Given the description of an element on the screen output the (x, y) to click on. 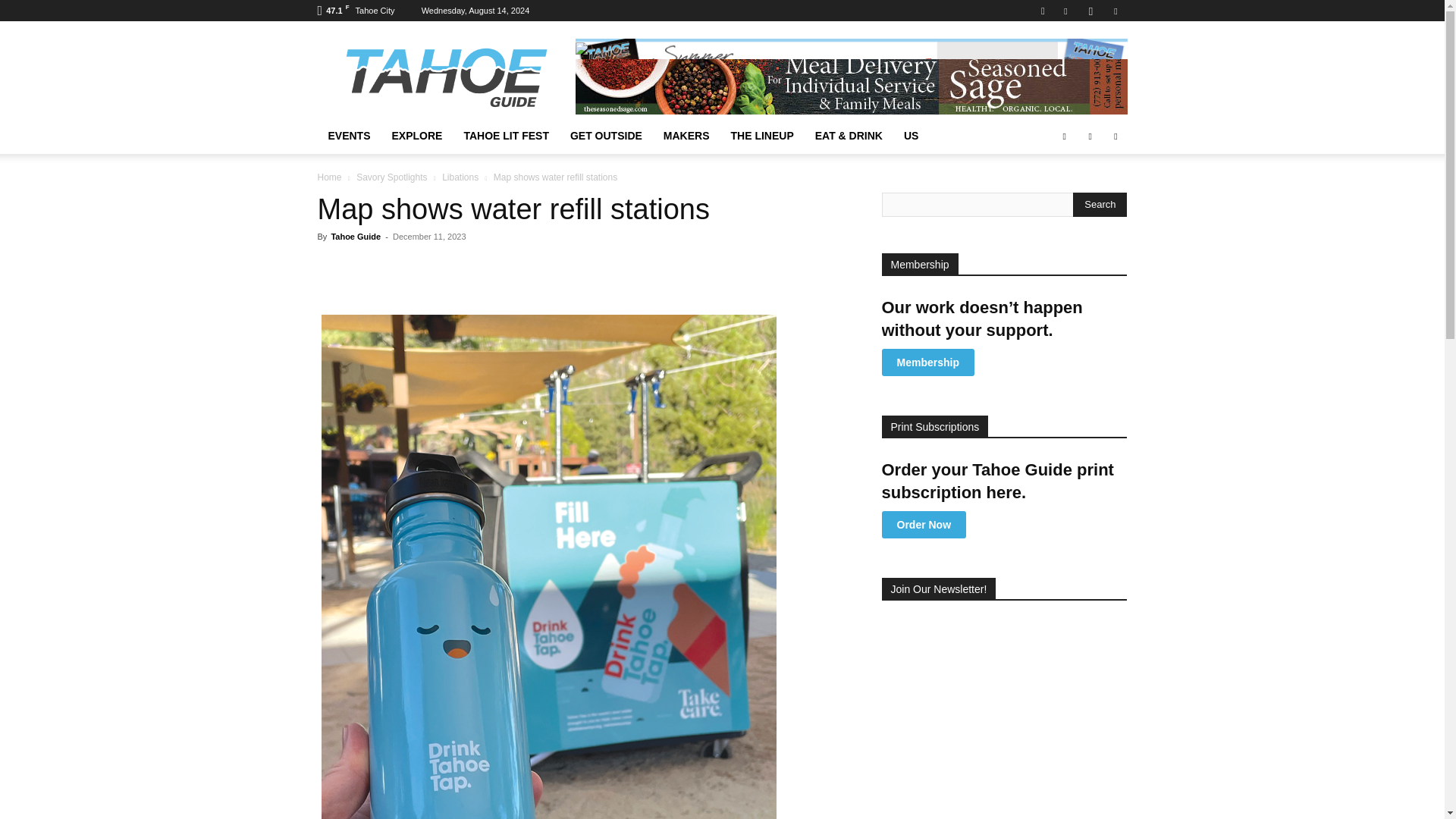
Instagram (1090, 10)
View all posts in Savory Spotlights (391, 176)
Search (1099, 204)
Facebook (1065, 10)
View all posts in Libations (460, 176)
RSS (1114, 10)
Tahoe Guide (445, 76)
